Given the description of an element on the screen output the (x, y) to click on. 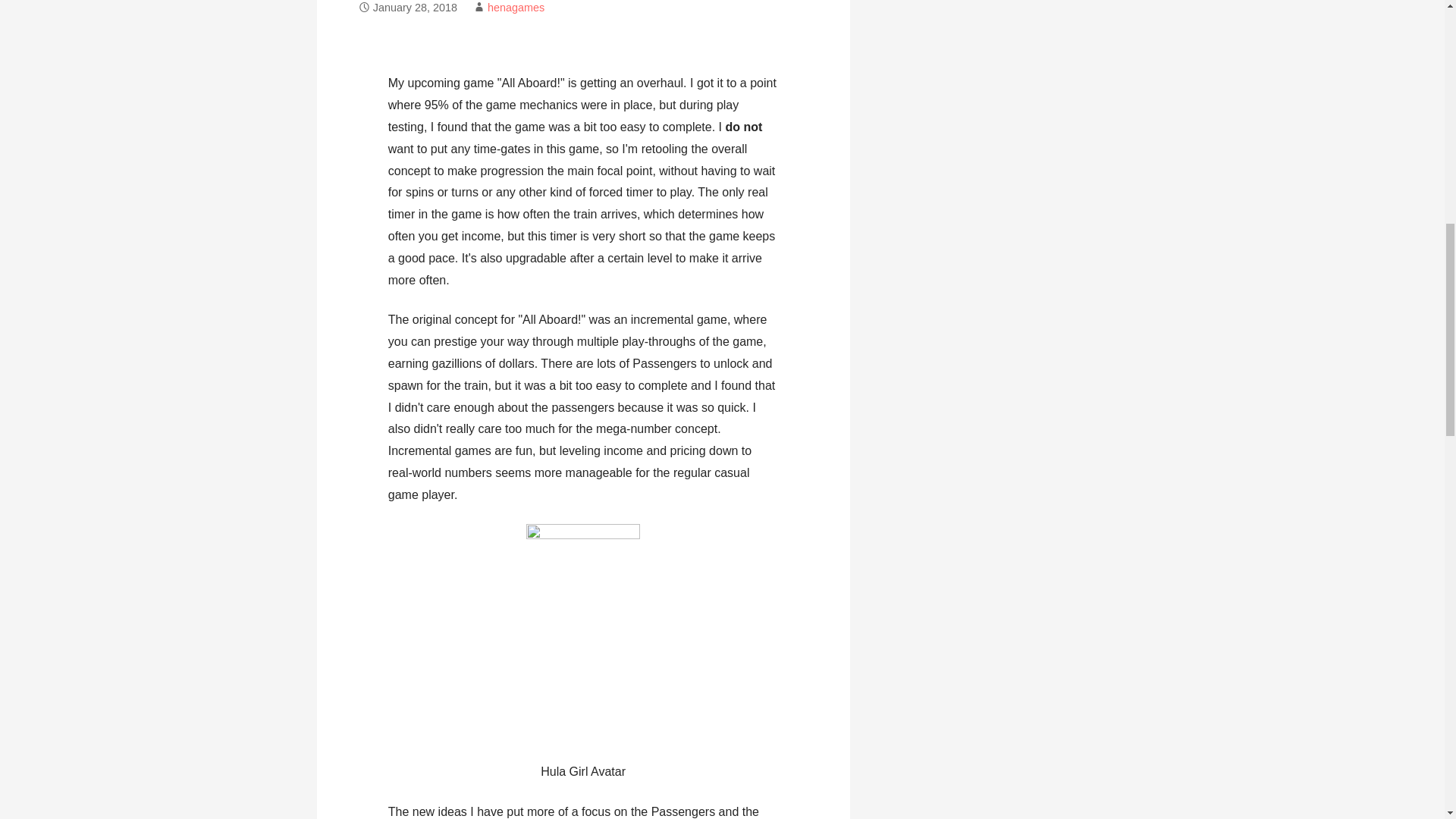
henagames (515, 7)
Posts by henagames (515, 7)
